Given the description of an element on the screen output the (x, y) to click on. 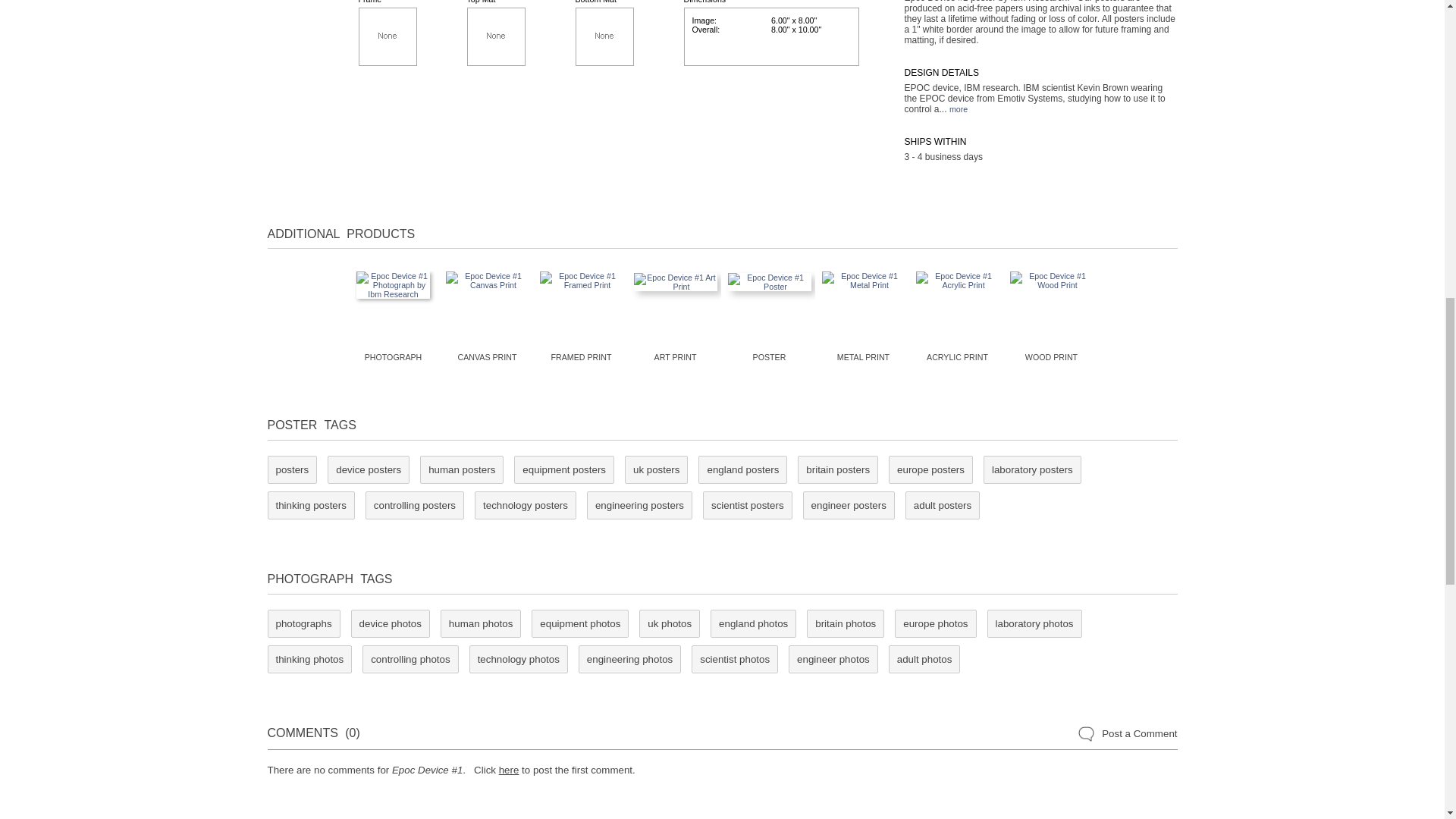
Bottom Mat (604, 36)
Top Mat (496, 36)
Selected Frame (387, 36)
